Given the description of an element on the screen output the (x, y) to click on. 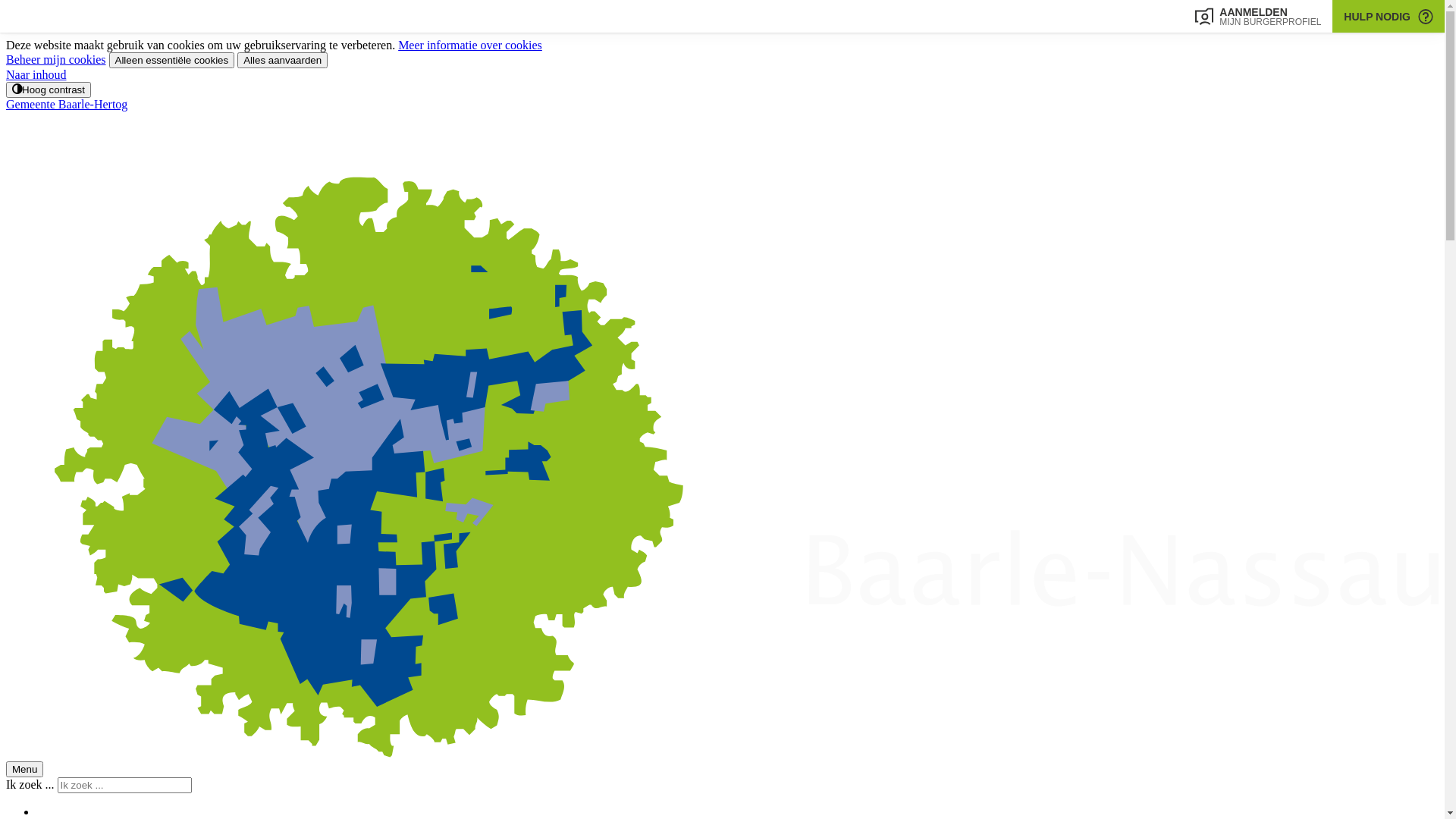
Menu Element type: text (24, 769)
HULP NODIG Element type: text (1388, 16)
Meer informatie over cookies Element type: text (470, 44)
Hoog contrast Element type: text (48, 89)
Naar inhoud Element type: text (36, 74)
Gemeente Baarle-Hertog Element type: text (722, 428)
AANMELDEN
MIJN BURGERPROFIEL Element type: text (1258, 16)
Alles aanvaarden Element type: text (282, 60)
Beheer mijn cookies Element type: text (56, 59)
